Given the description of an element on the screen output the (x, y) to click on. 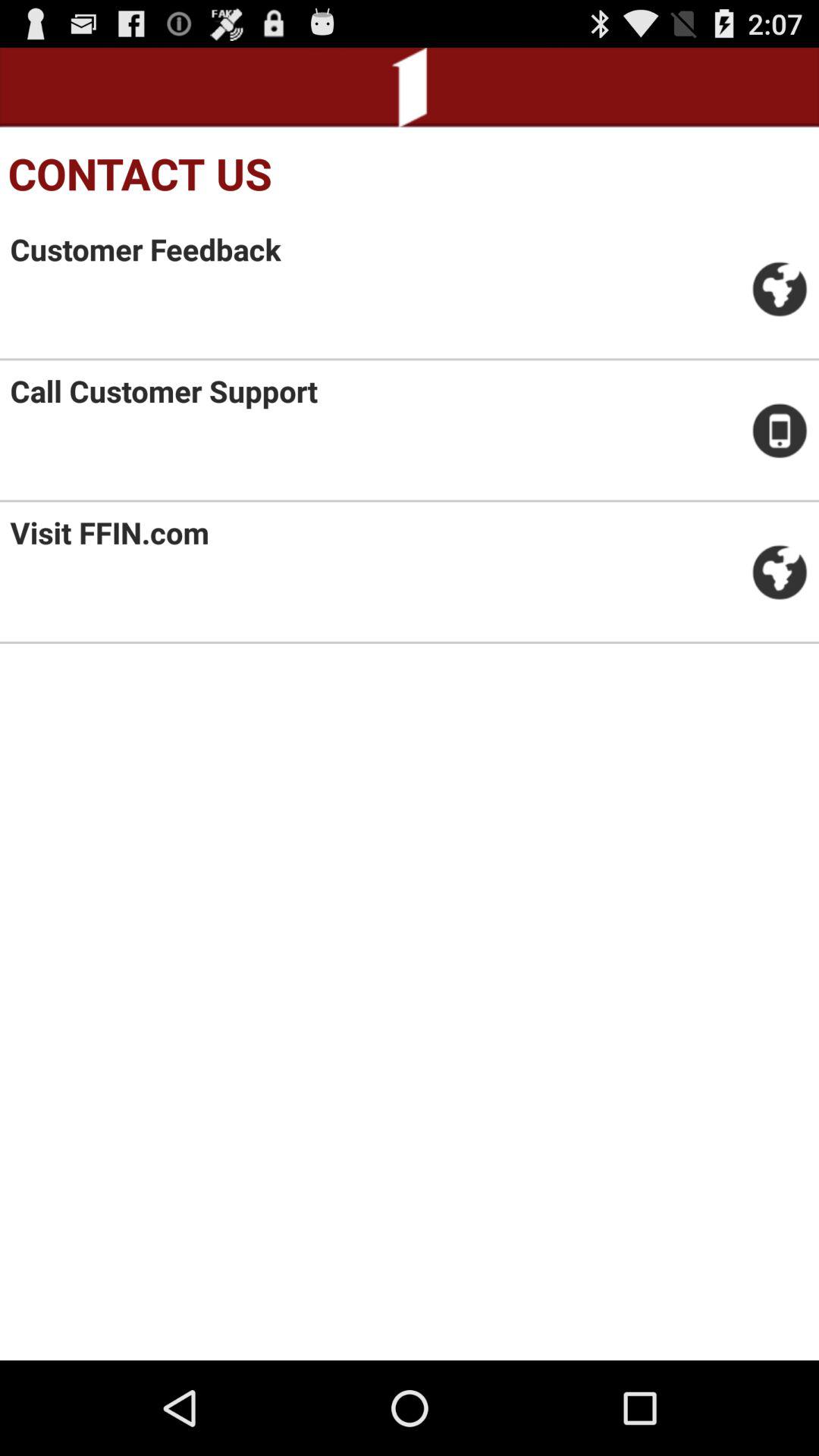
open visit ffin.com on the left (109, 532)
